Given the description of an element on the screen output the (x, y) to click on. 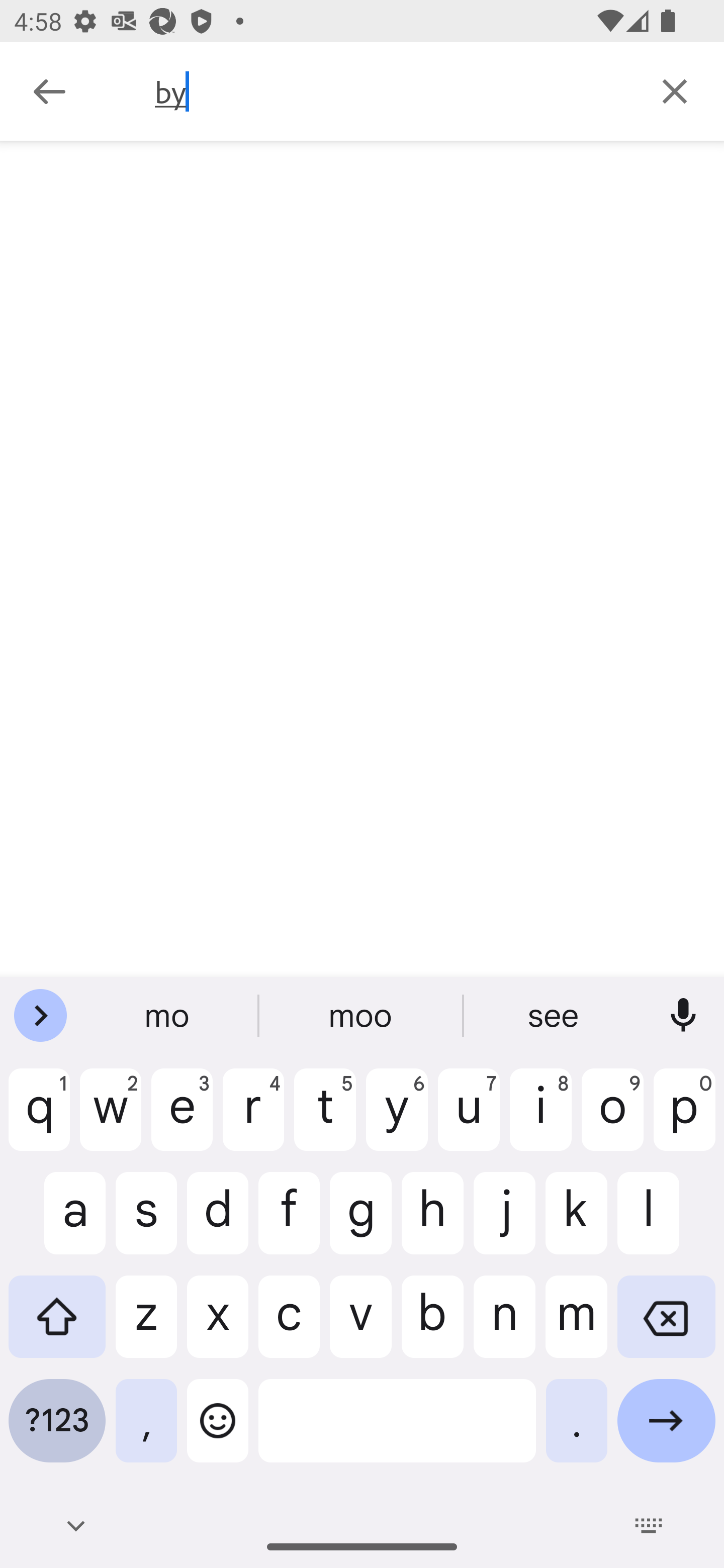
Navigate up (49, 91)
Clear query (674, 90)
by (389, 91)
